Given the description of an element on the screen output the (x, y) to click on. 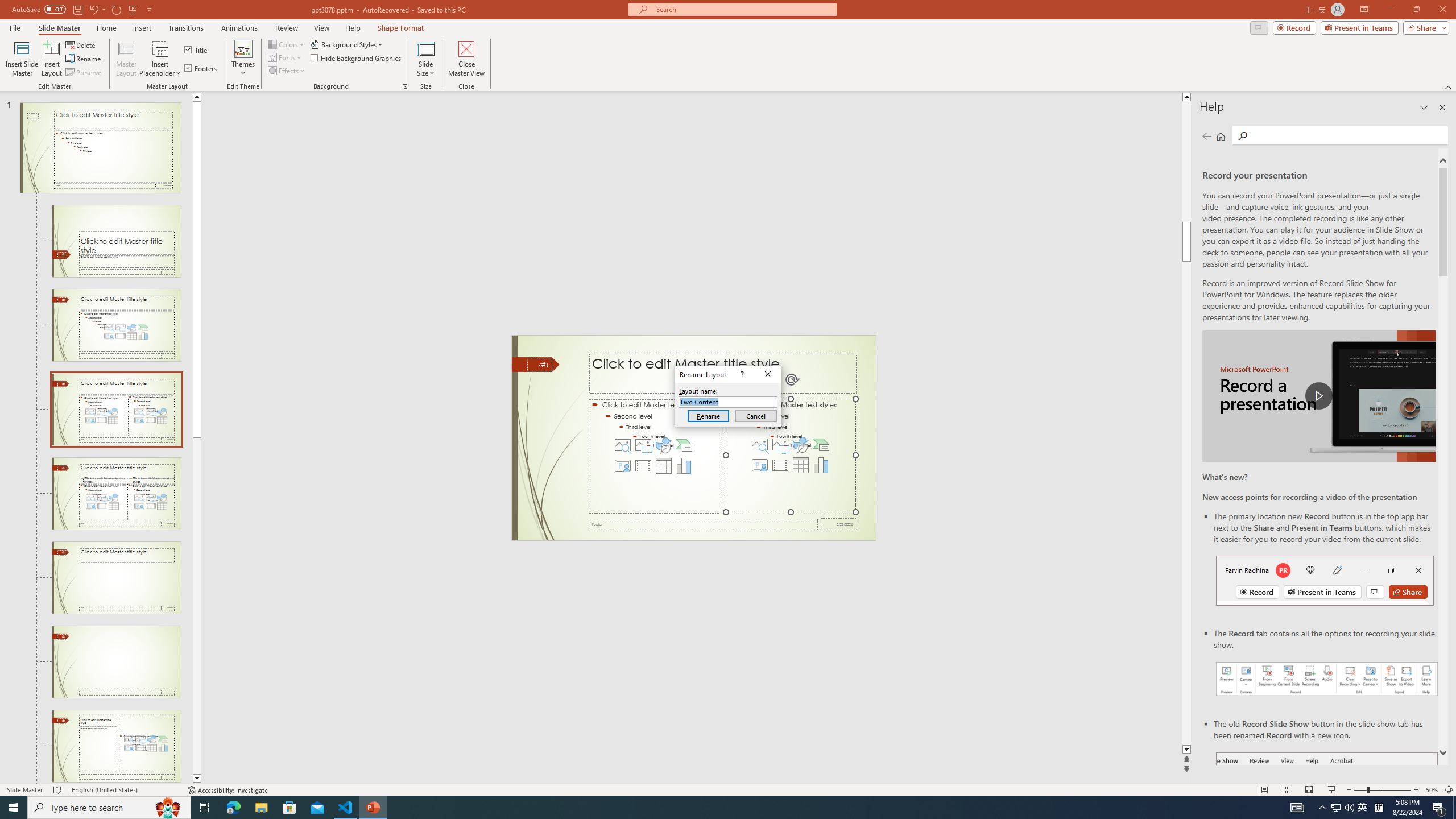
Insert Cameo (759, 465)
